Given the description of an element on the screen output the (x, y) to click on. 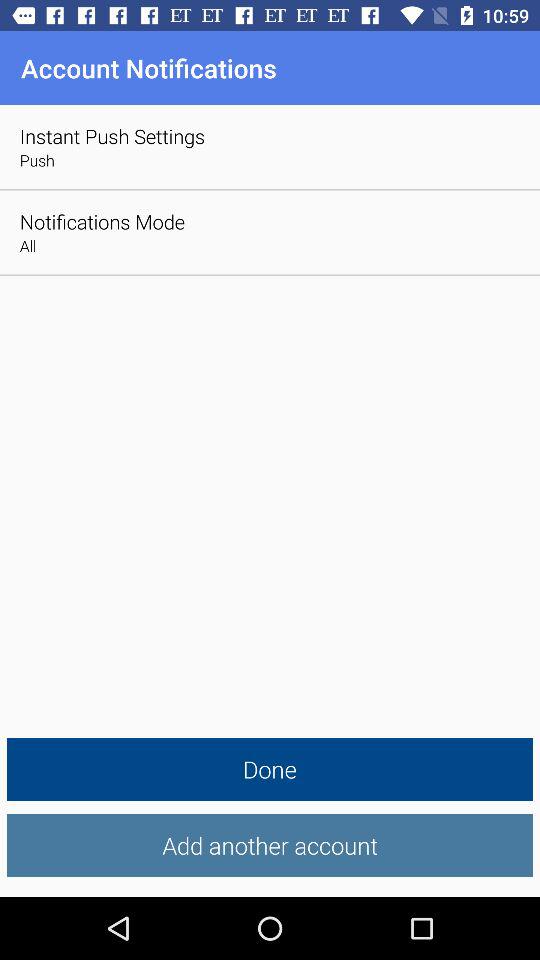
tap the icon above add another account icon (269, 769)
